Given the description of an element on the screen output the (x, y) to click on. 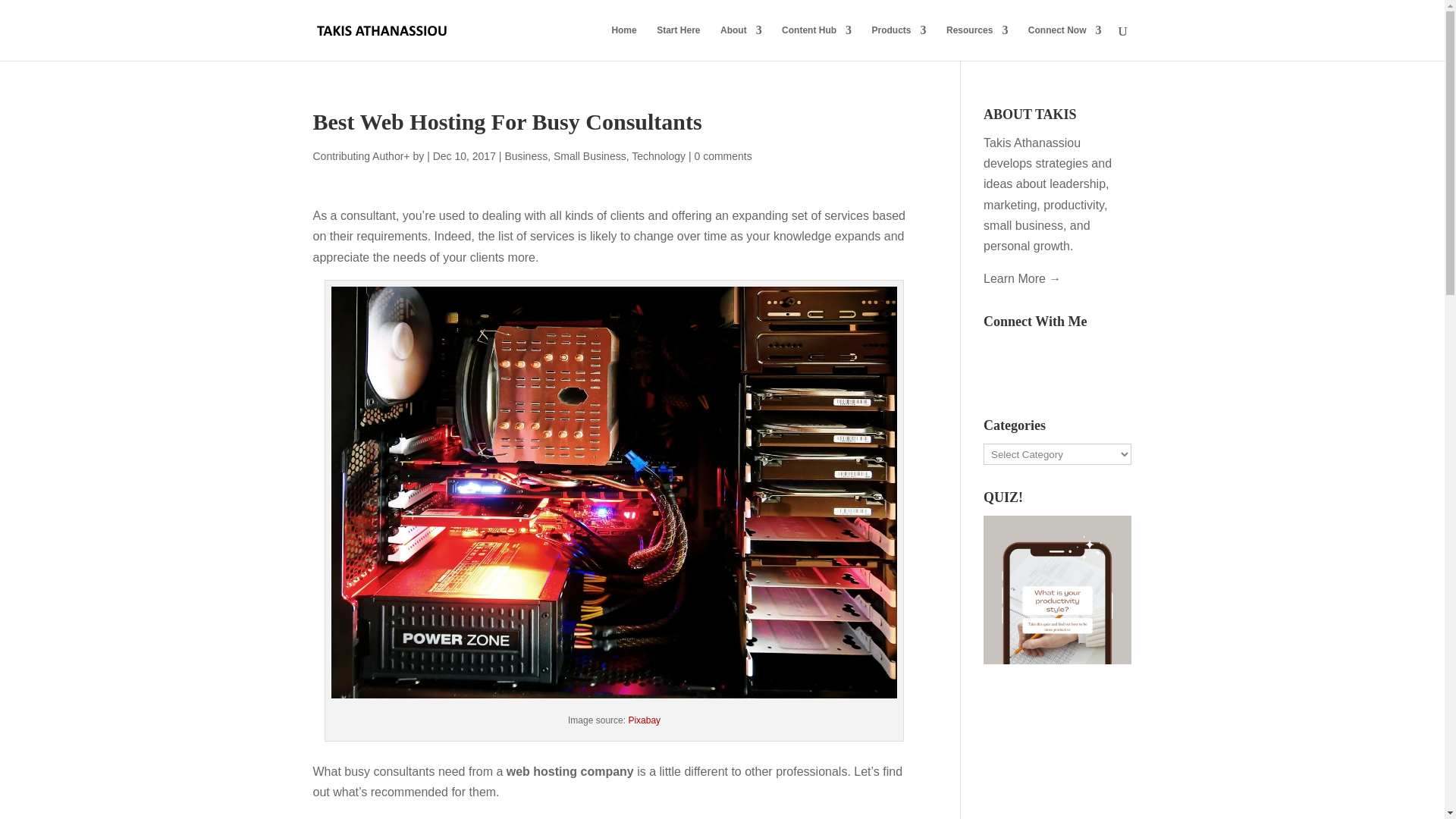
Products (899, 42)
Small Business (589, 155)
Posts by Contributing Author (358, 155)
Contributing Author (358, 155)
About (740, 42)
Content Hub (816, 42)
Business (525, 155)
Start Here (678, 42)
Technology (658, 155)
Connect Now (1064, 42)
